Given the description of an element on the screen output the (x, y) to click on. 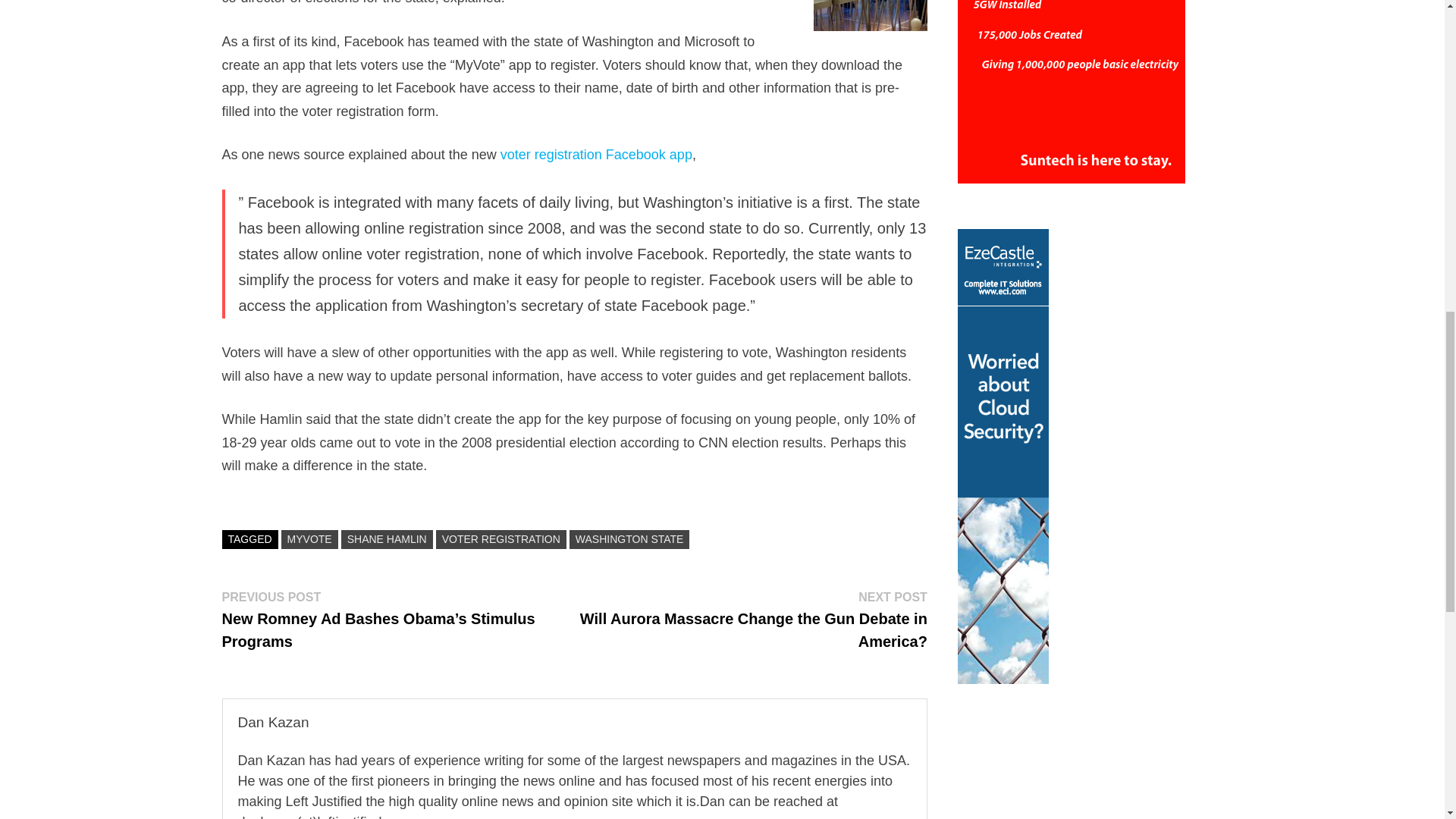
VOTER REGISTRATION (500, 538)
MYVOTE (309, 538)
WASHINGTON STATE (629, 538)
voter registration Facebook app (596, 154)
SHANE HAMLIN (386, 538)
voter registration (870, 15)
